Given the description of an element on the screen output the (x, y) to click on. 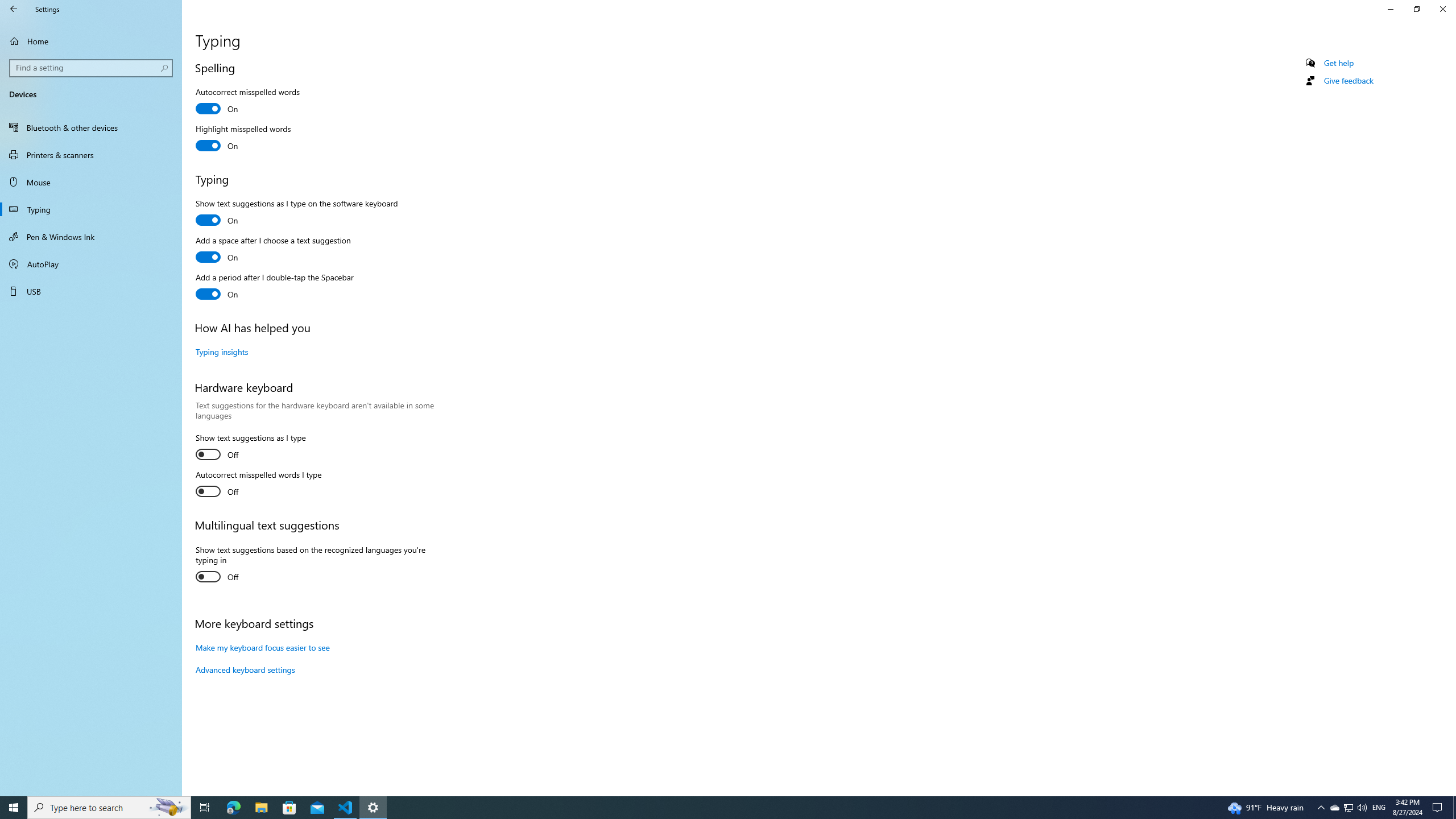
Tray Input Indicator - English (United States) (1378, 807)
AutoPlay (91, 263)
Typing insights (221, 351)
Highlight misspelled words (243, 138)
Close Settings (1442, 9)
Show text suggestions as I type on the software keyboard (296, 213)
USB (91, 290)
Add a space after I choose a text suggestion (272, 250)
Advanced keyboard settings (245, 669)
